Given the description of an element on the screen output the (x, y) to click on. 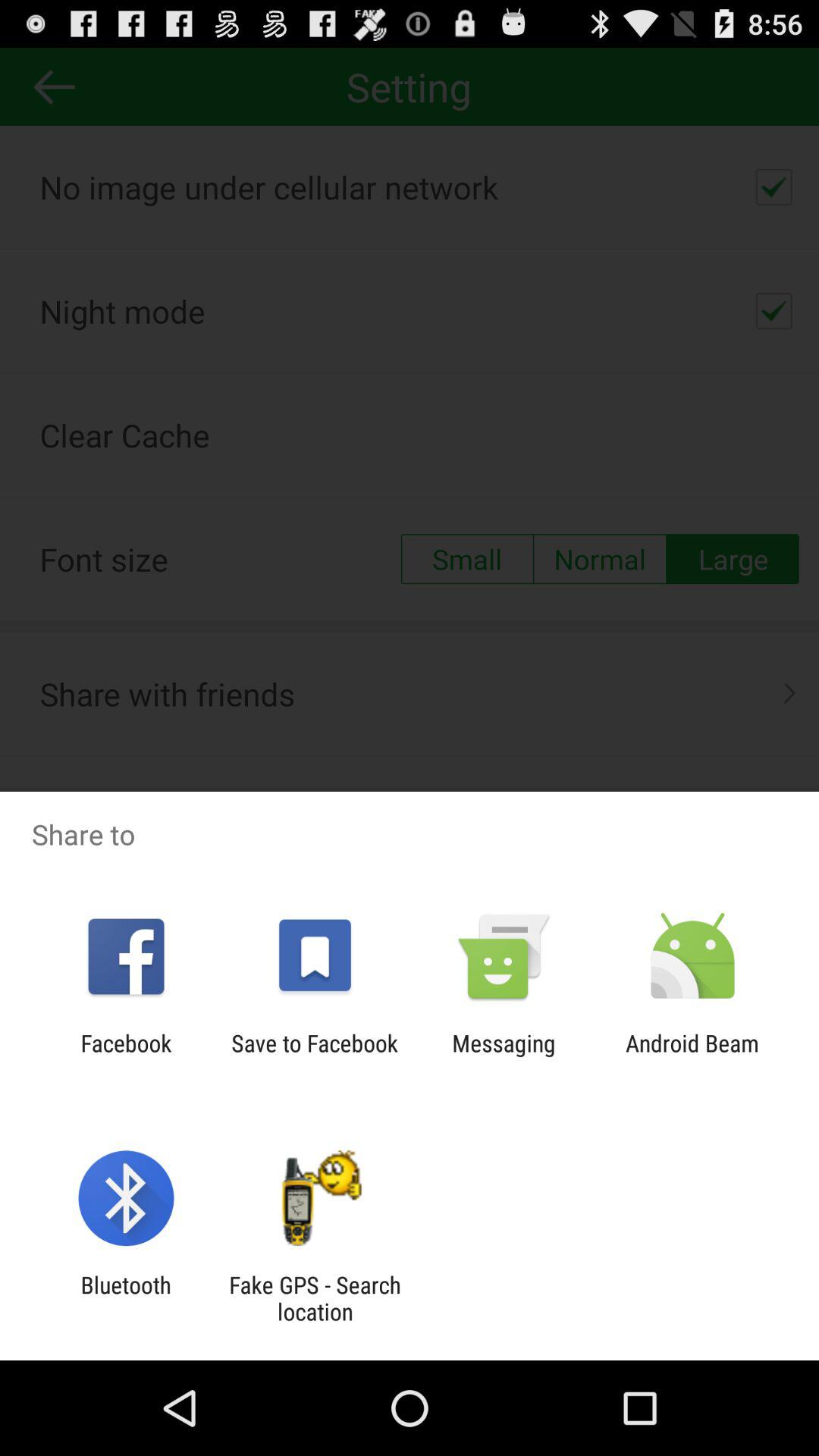
open the icon next to the android beam item (503, 1056)
